Given the description of an element on the screen output the (x, y) to click on. 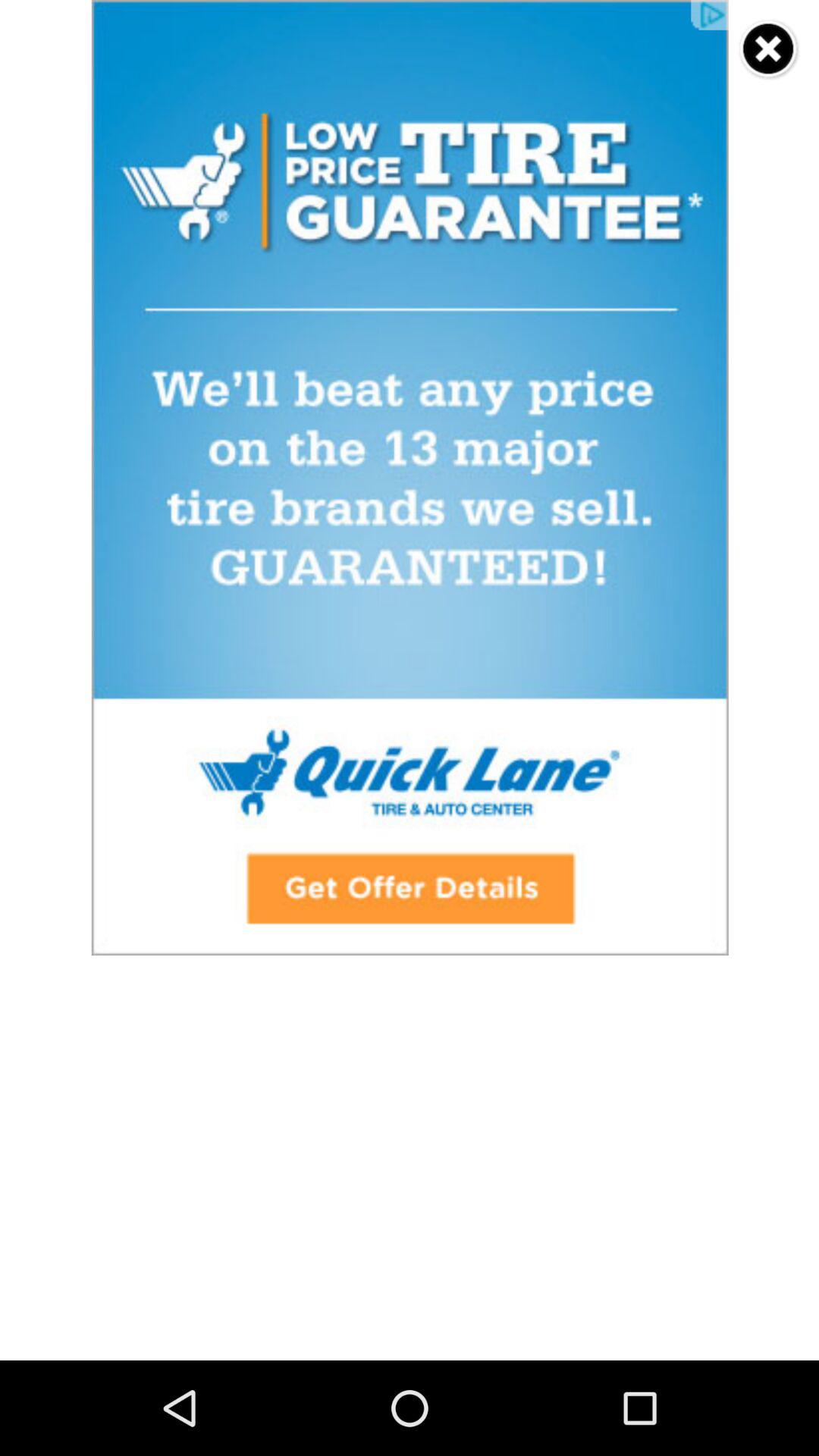
close advertisement (769, 49)
